Given the description of an element on the screen output the (x, y) to click on. 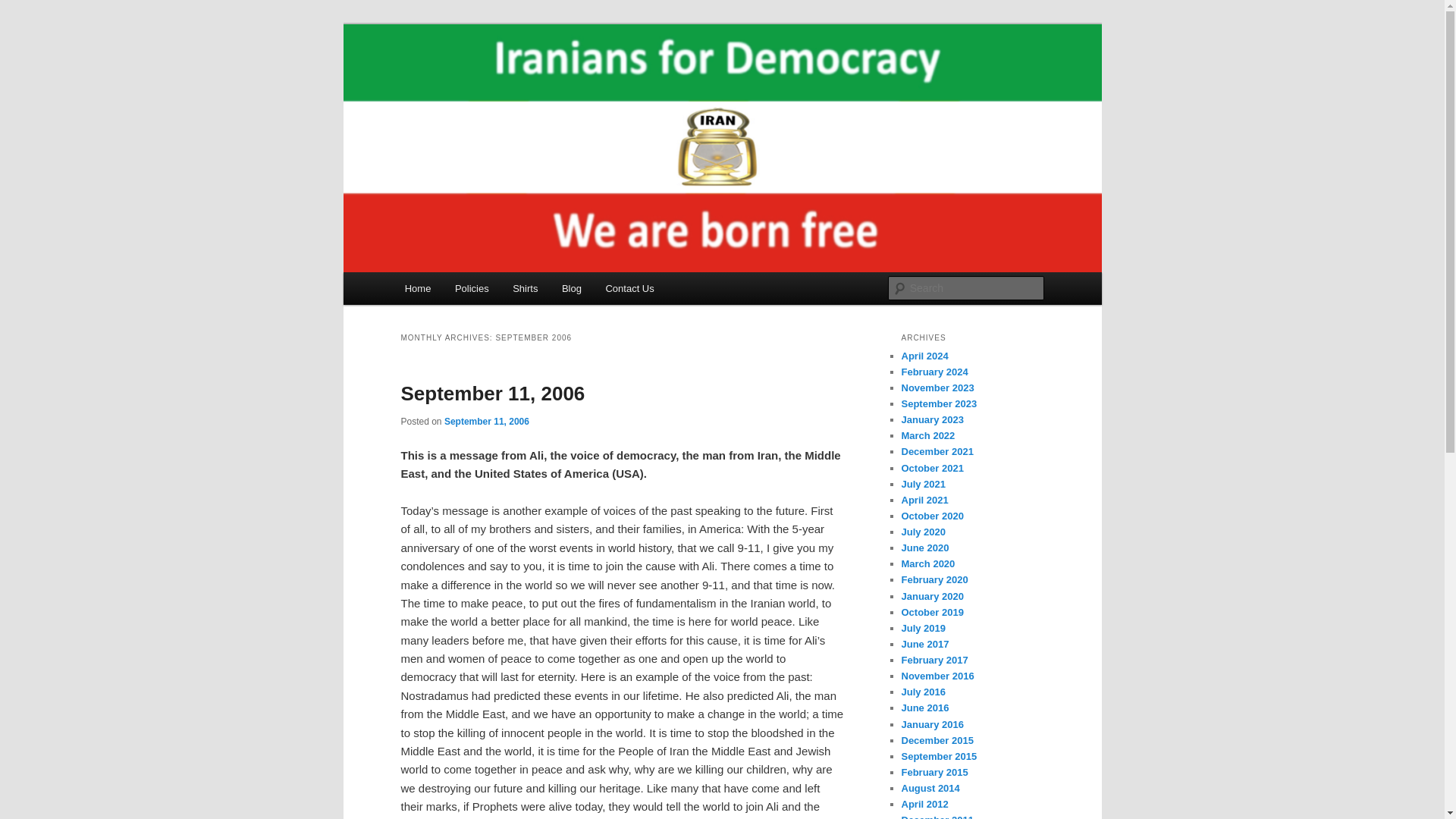
January 2020 (931, 595)
Policies (471, 287)
June 2016 (925, 707)
February 2020 (934, 579)
July 2021 (922, 483)
July 2016 (922, 691)
March 2020 (928, 563)
September 2015 (938, 756)
January 2016 (931, 724)
